Given the description of an element on the screen output the (x, y) to click on. 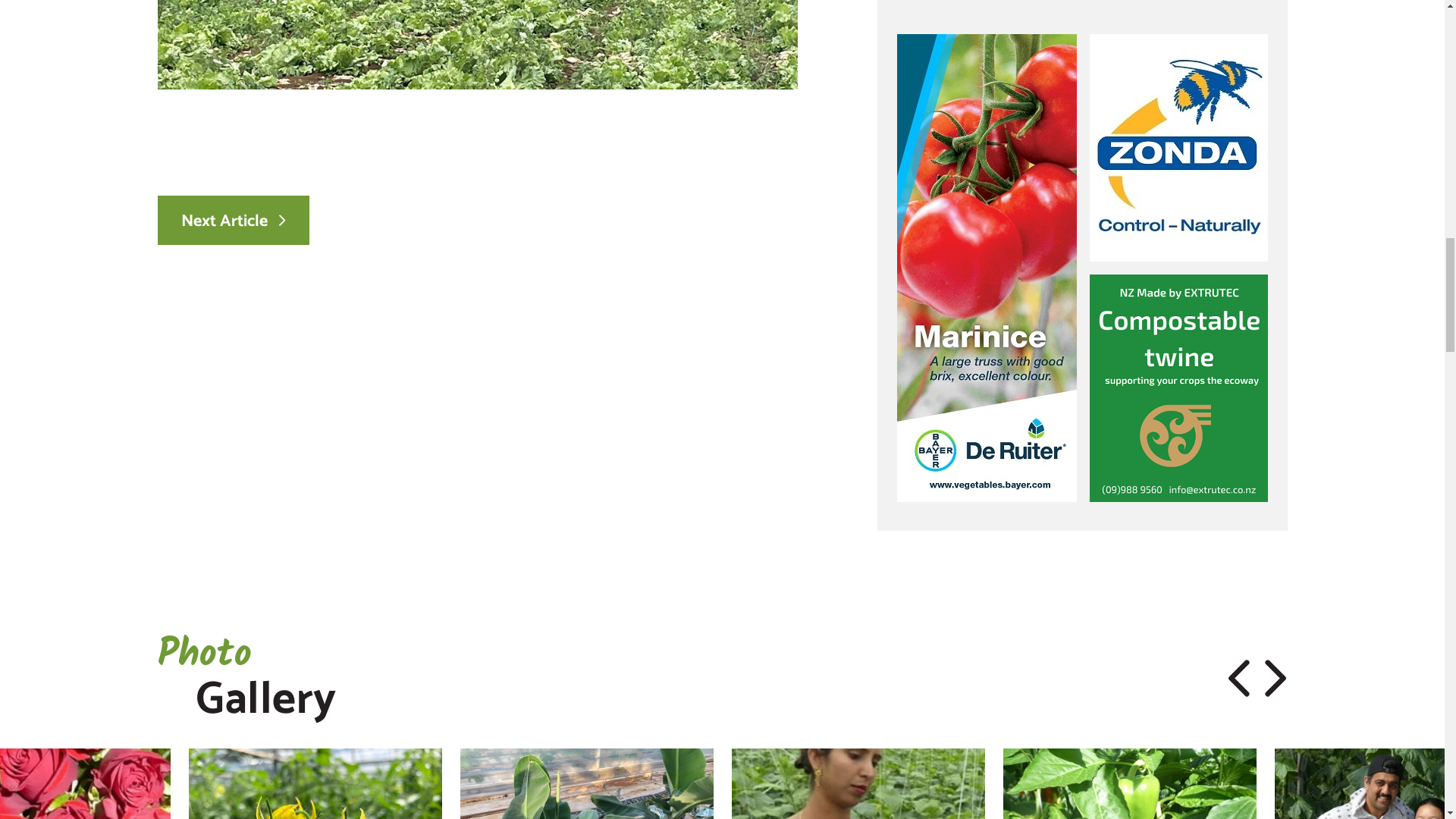
Next Article (232, 219)
